Given the description of an element on the screen output the (x, y) to click on. 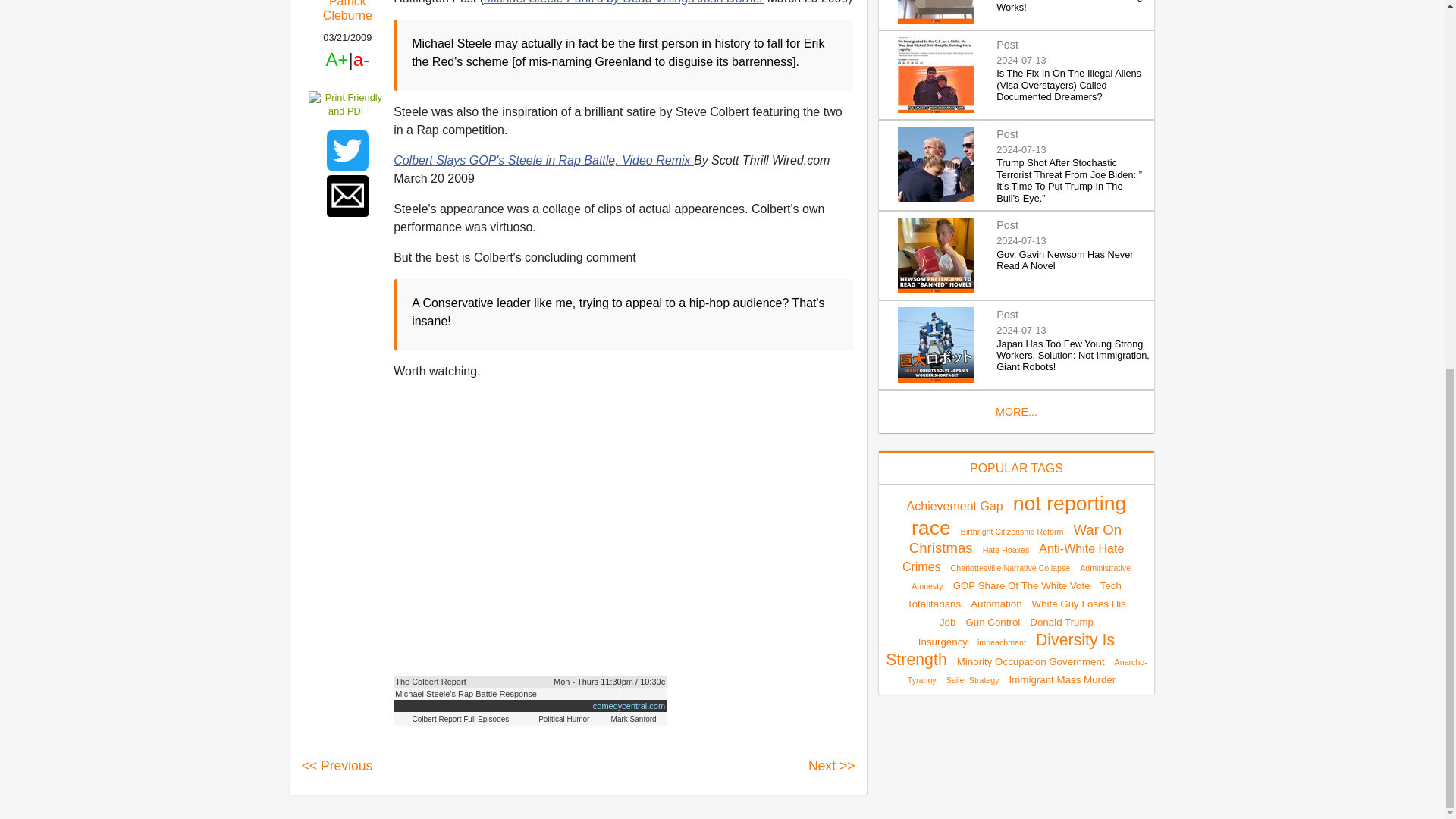
Share to Email (347, 196)
Share to Twitter (347, 150)
Printer Friendly and PDF (347, 102)
